Given the description of an element on the screen output the (x, y) to click on. 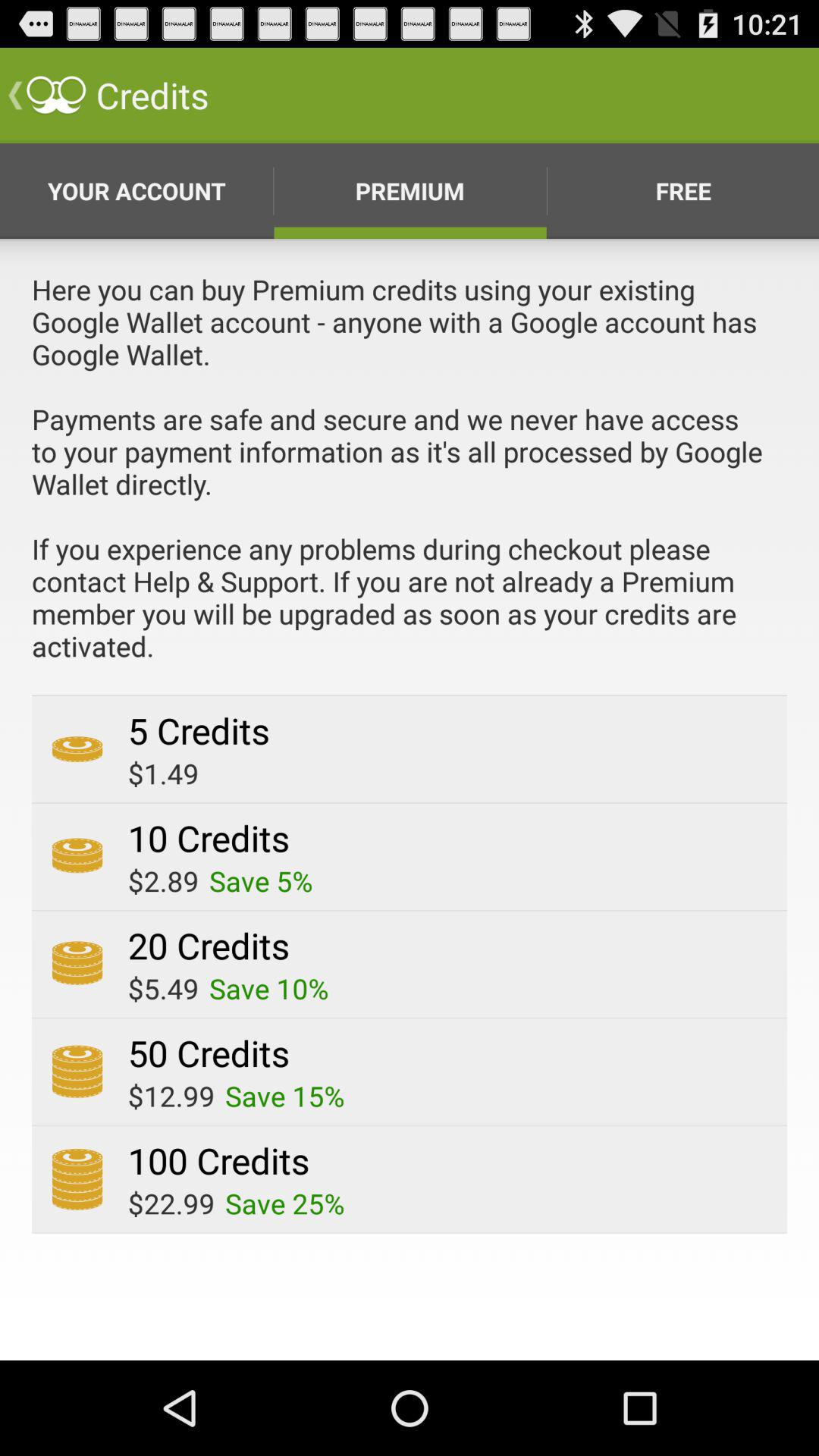
launch the save 15% (284, 1095)
